Given the description of an element on the screen output the (x, y) to click on. 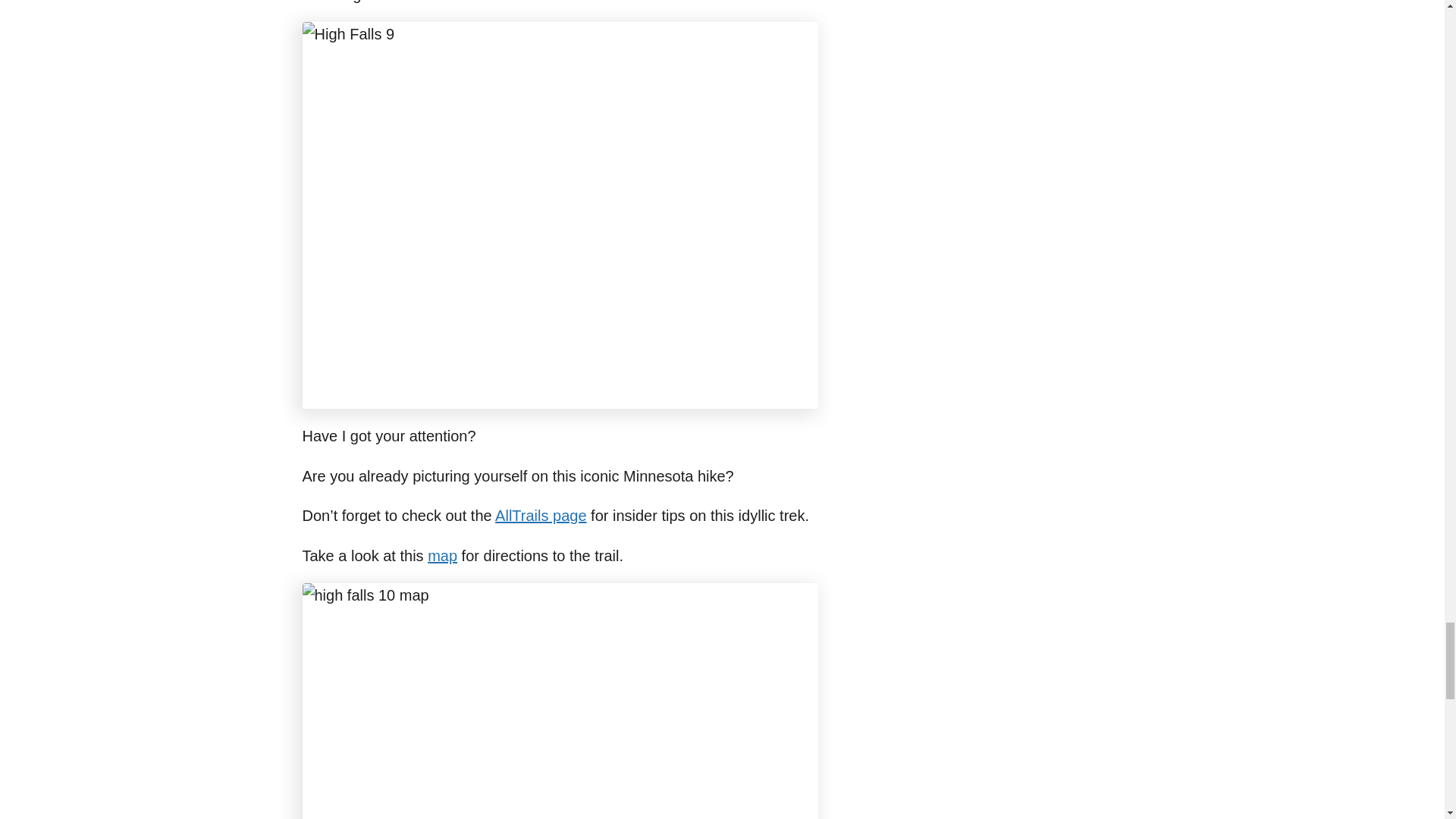
AllTrails page (540, 515)
